Given the description of an element on the screen output the (x, y) to click on. 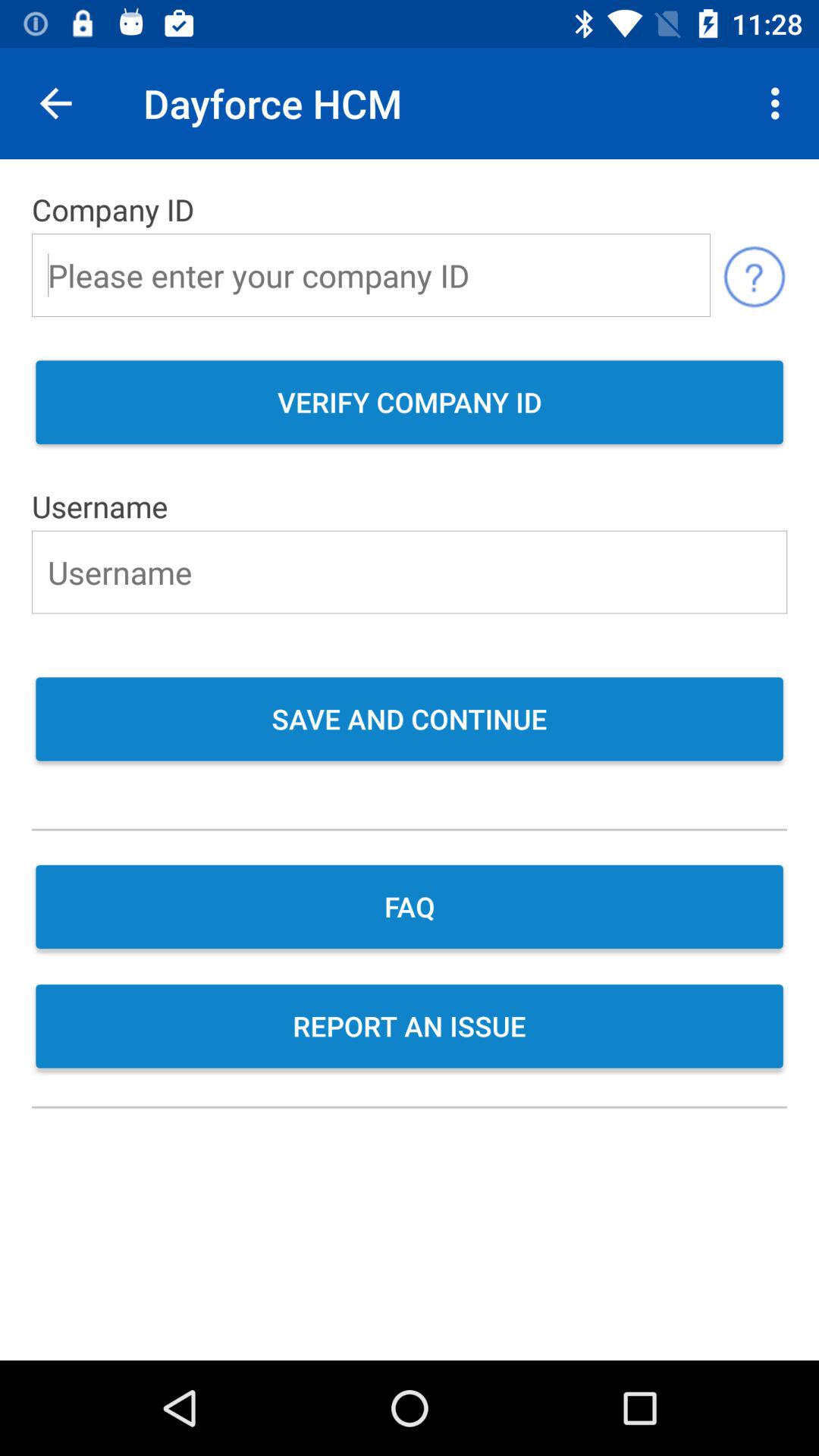
turn on the report an issue icon (409, 1028)
